Given the description of an element on the screen output the (x, y) to click on. 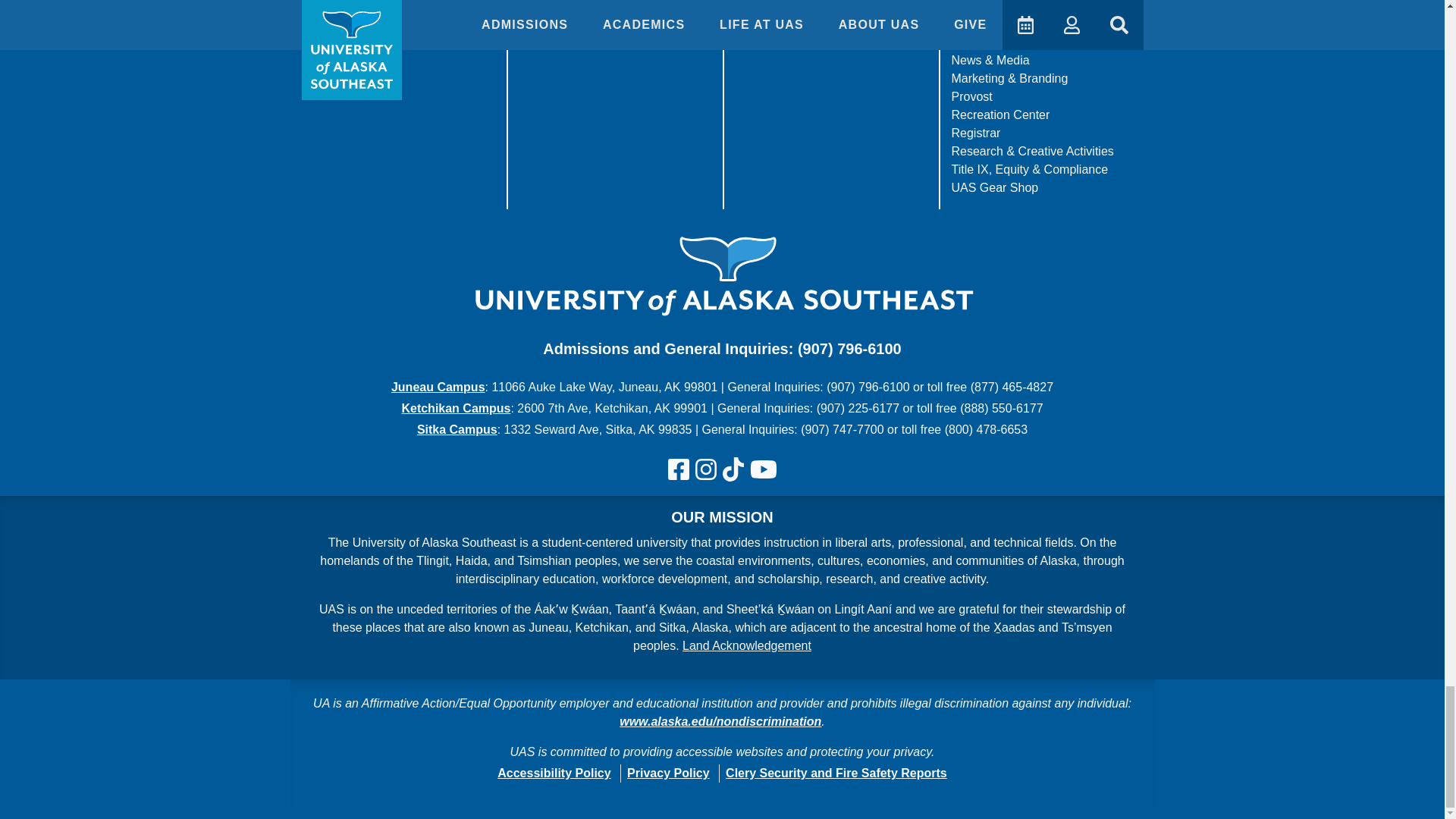
Check us out on YouTube (762, 470)
